Given the description of an element on the screen output the (x, y) to click on. 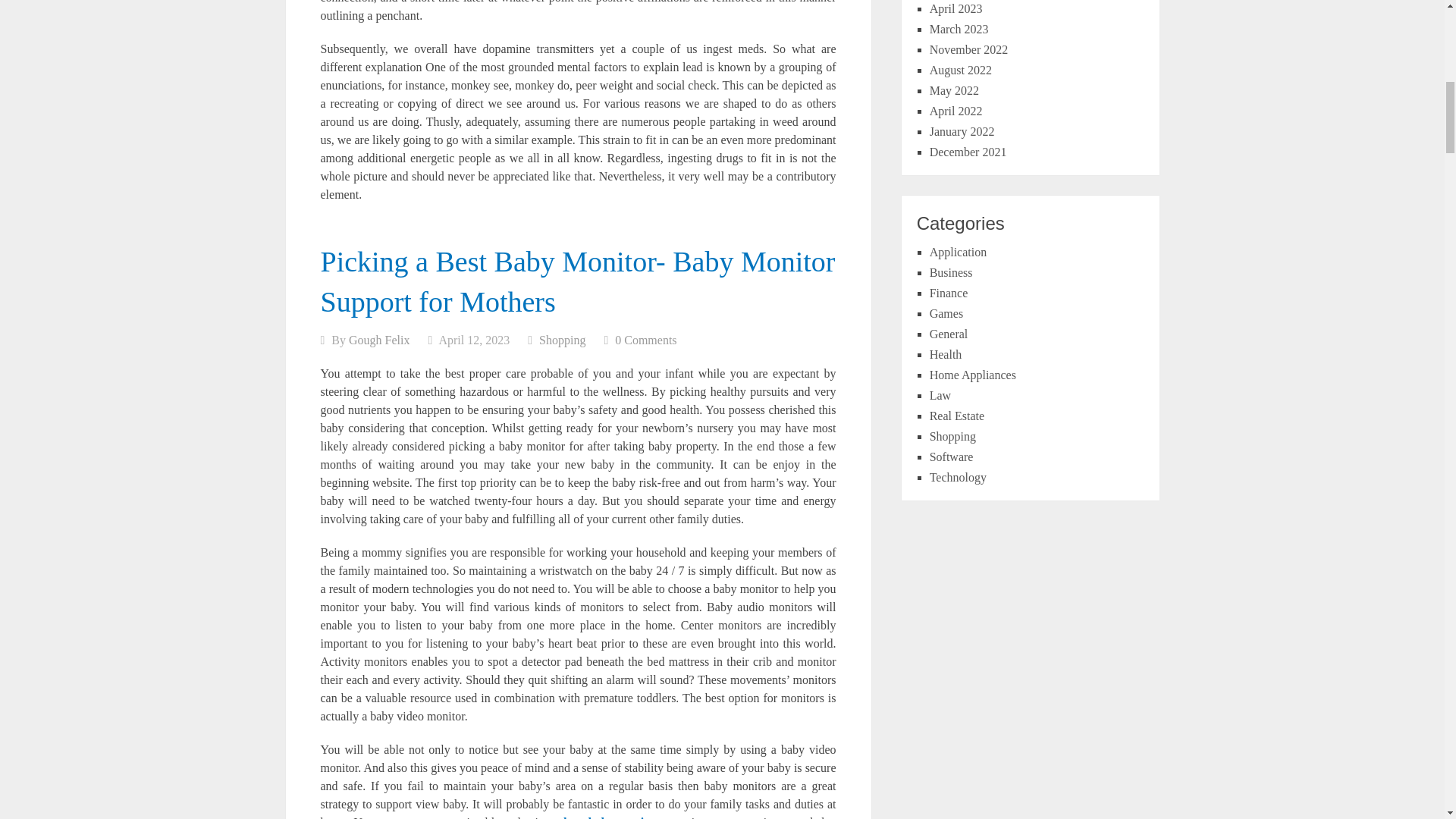
Gough Felix (379, 339)
0 Comments (645, 339)
best baby monitor (611, 817)
Shopping (561, 339)
Posts by Gough Felix (379, 339)
